Given the description of an element on the screen output the (x, y) to click on. 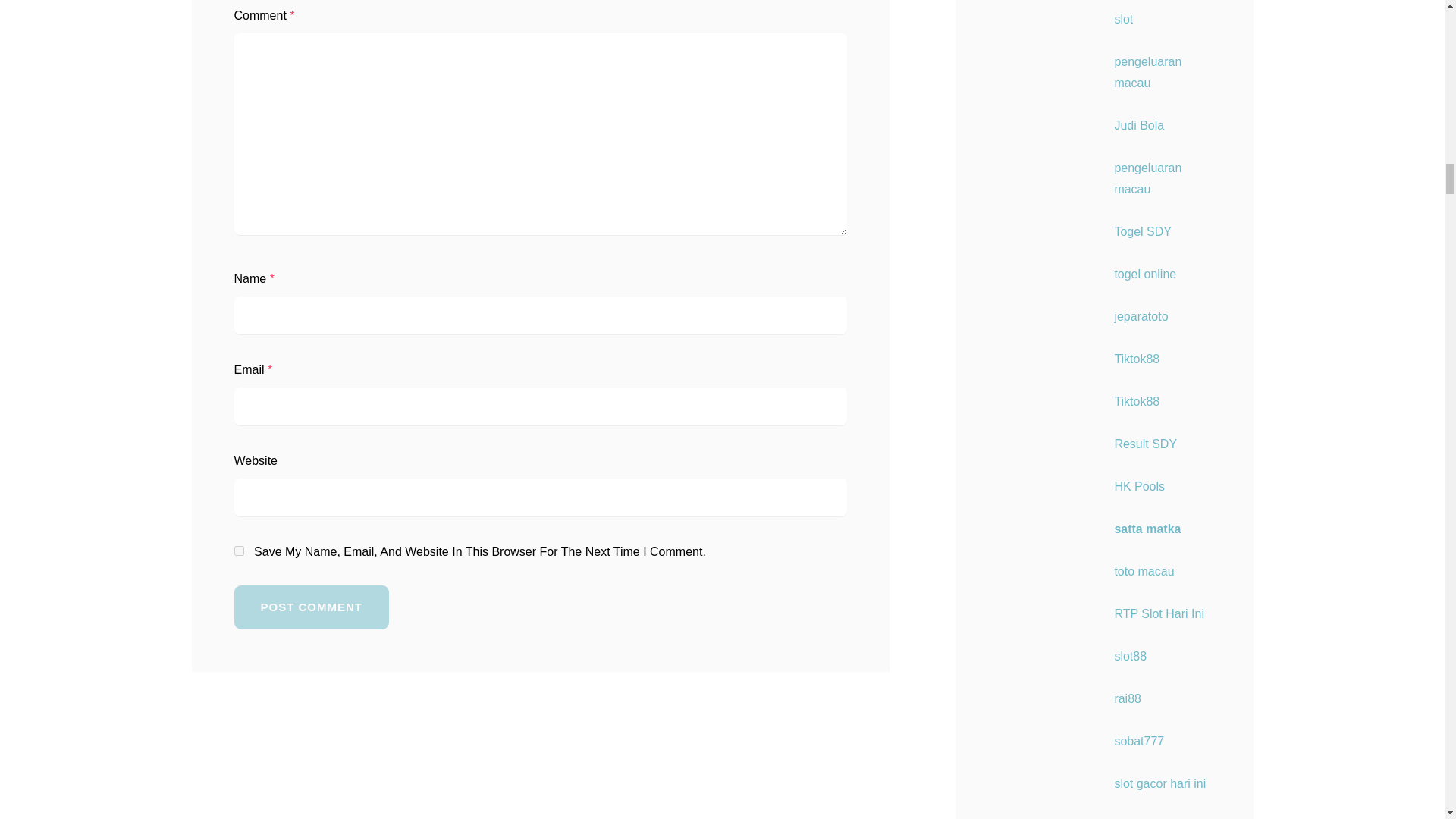
Post Comment (310, 606)
Post Comment (310, 606)
yes (237, 551)
